Given the description of an element on the screen output the (x, y) to click on. 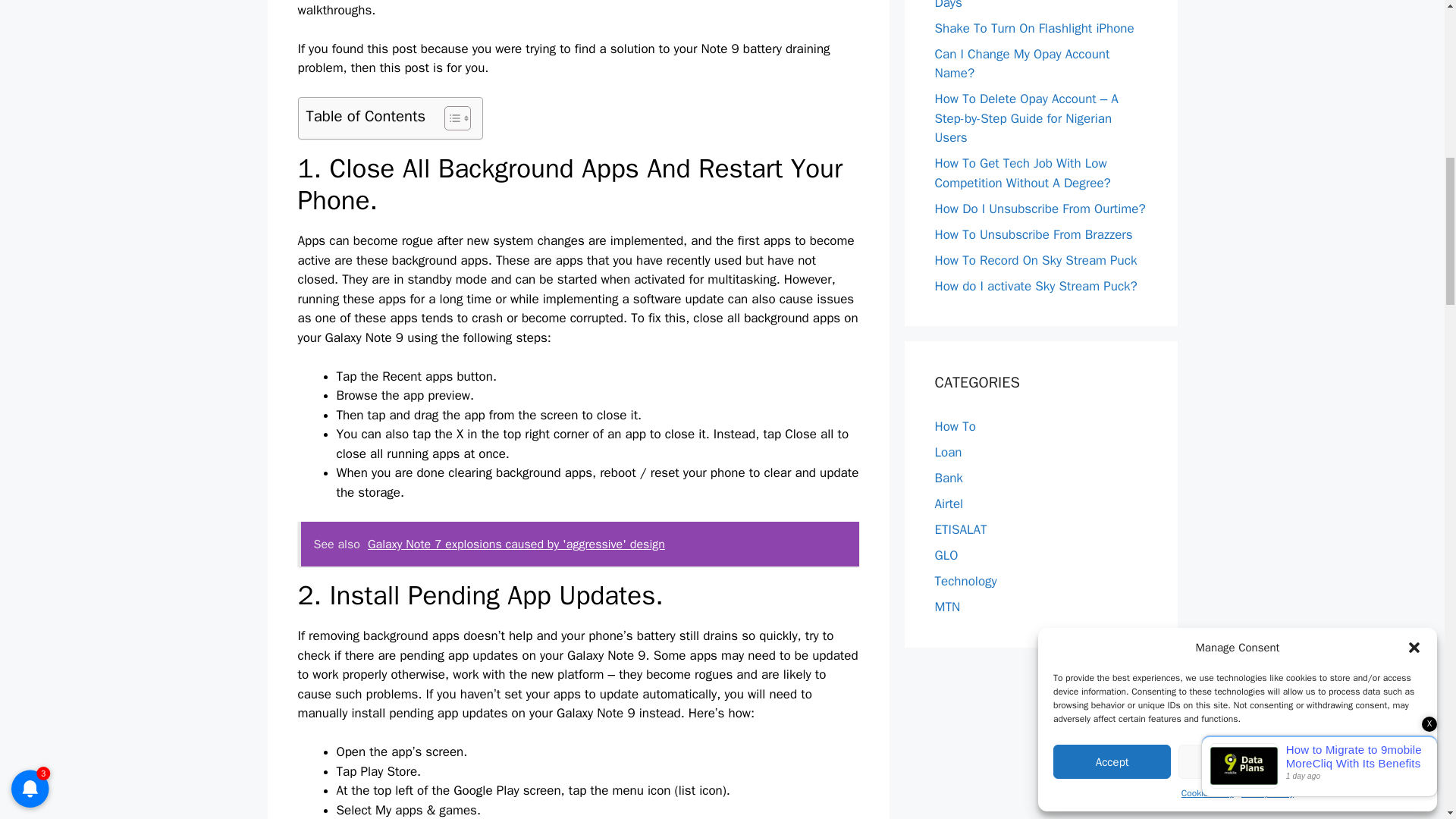
Scroll back to top (1406, 720)
